Given the description of an element on the screen output the (x, y) to click on. 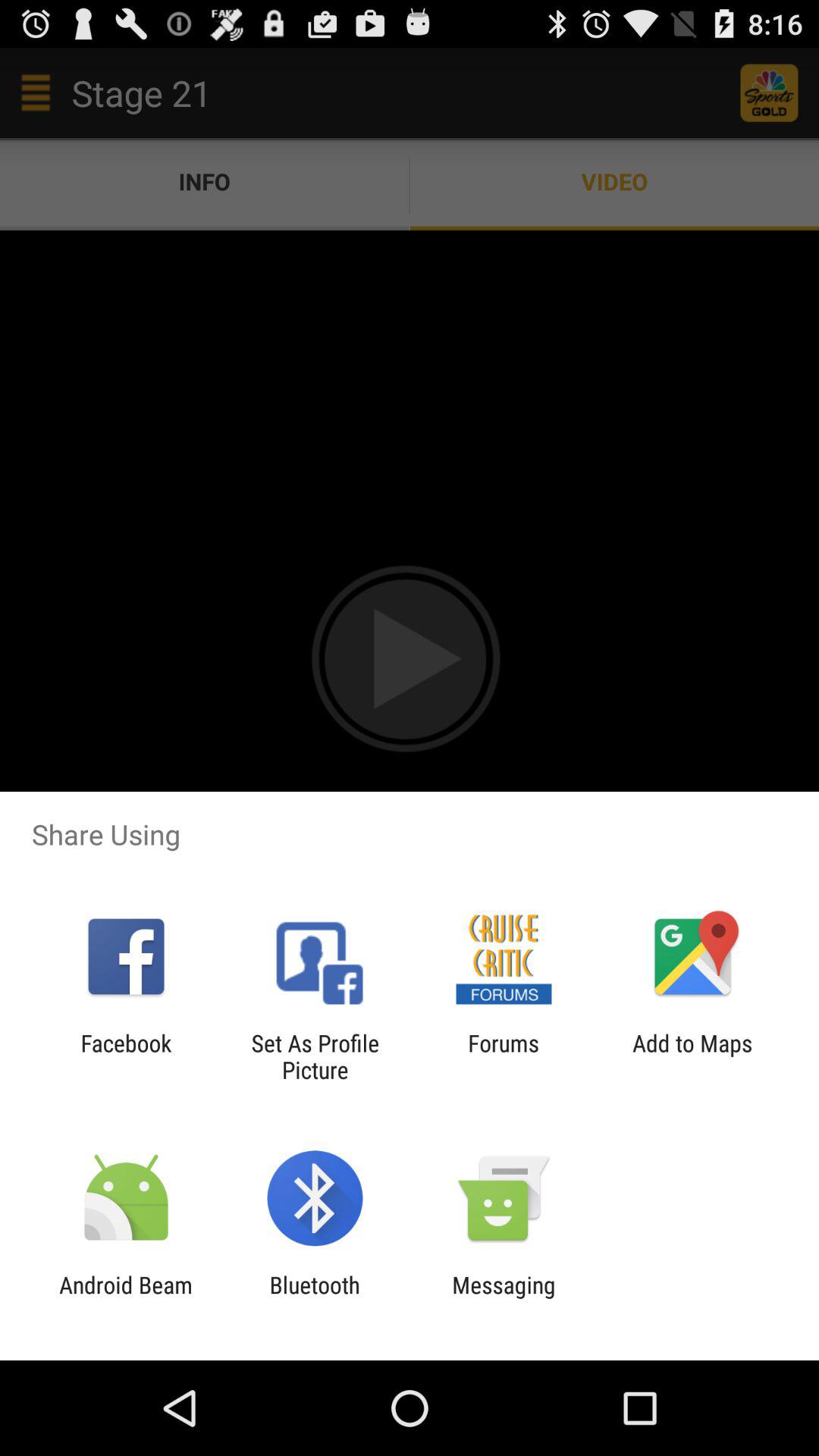
scroll to facebook (125, 1056)
